Given the description of an element on the screen output the (x, y) to click on. 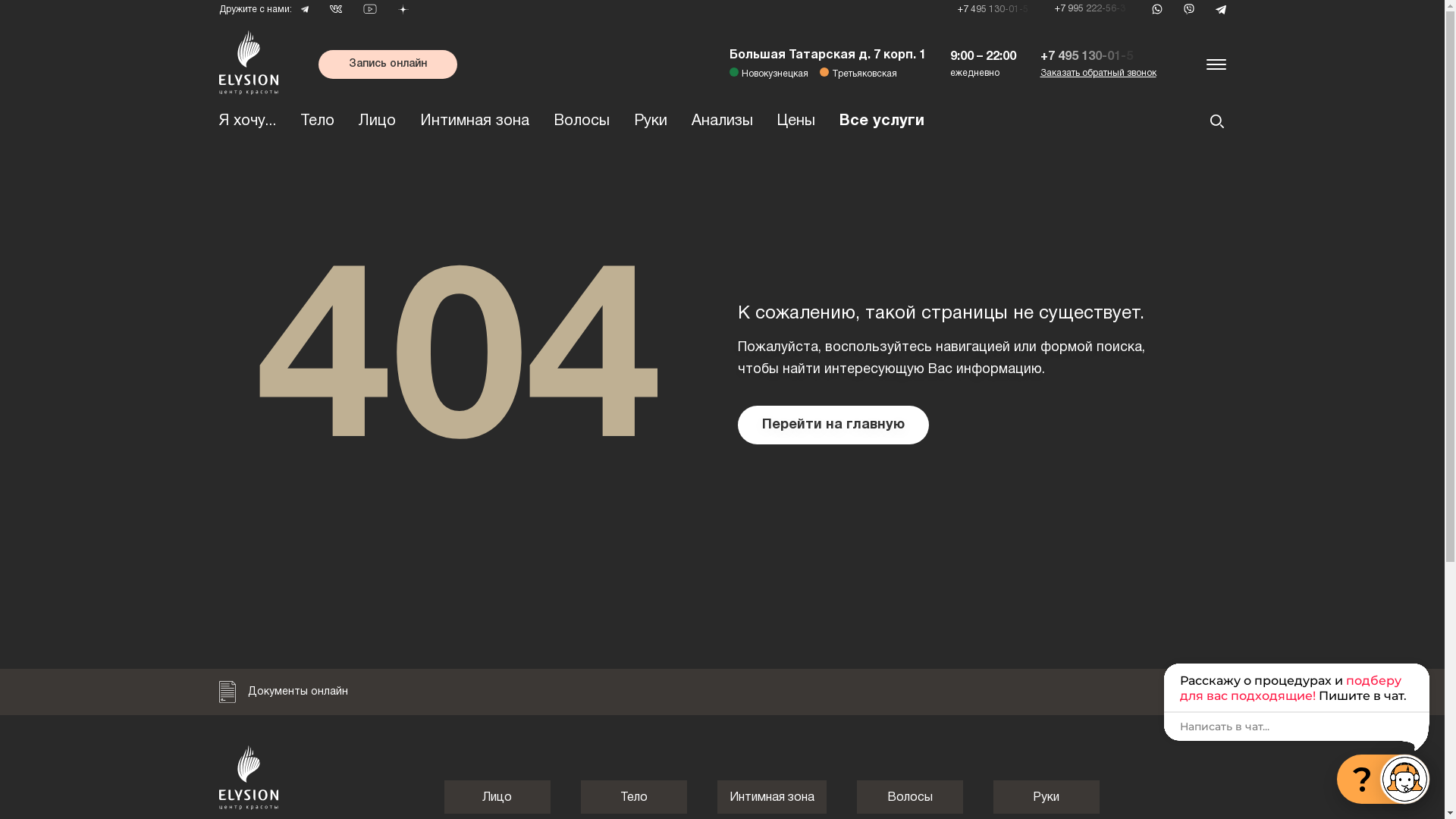
+7 995 222-56-3 Element type: text (1091, 8)
+7 495 130-01-5 Element type: text (994, 8)
+7 495 130-01-5 Element type: text (1089, 56)
